Given the description of an element on the screen output the (x, y) to click on. 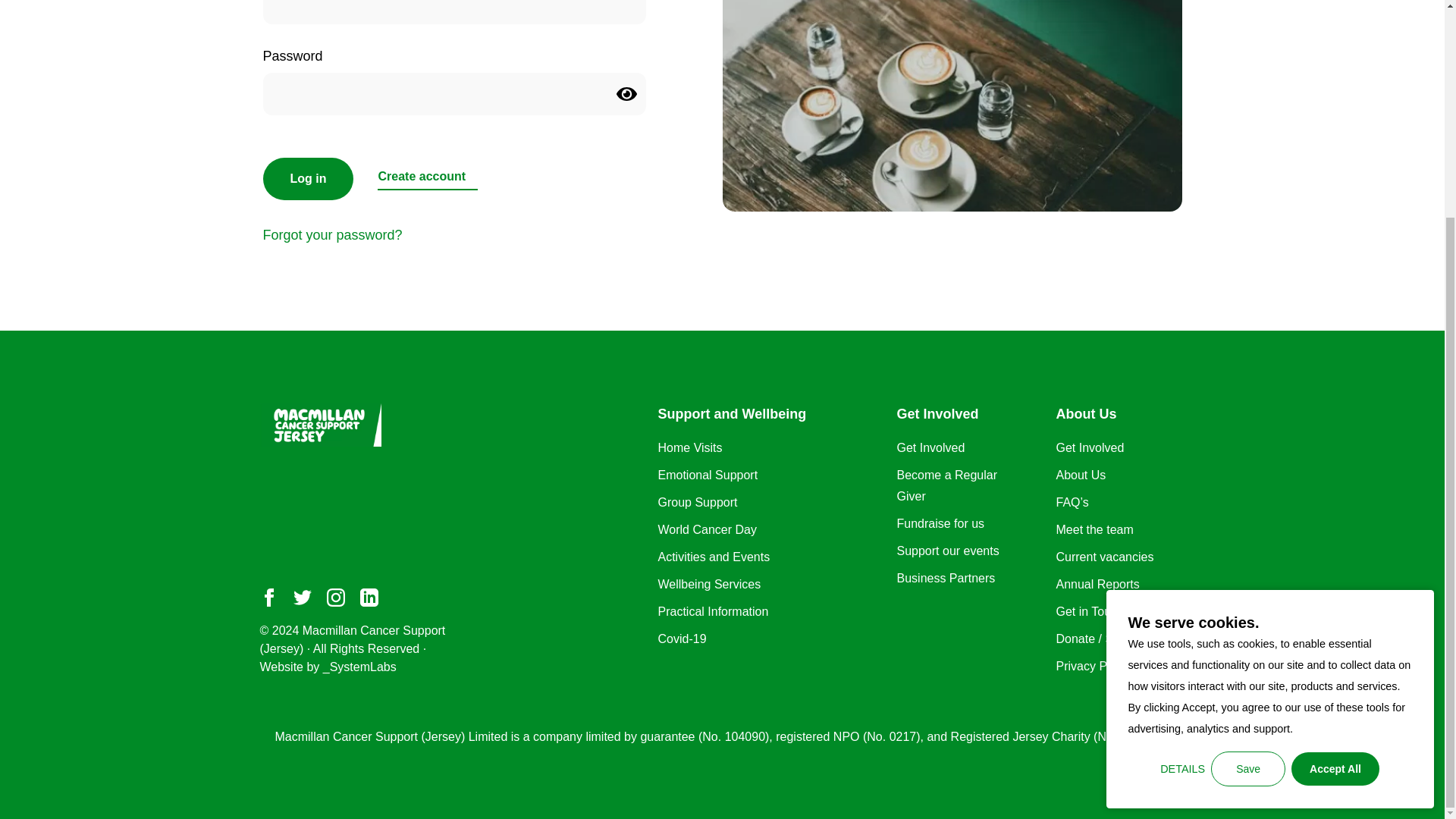
Log in (307, 178)
